Given the description of an element on the screen output the (x, y) to click on. 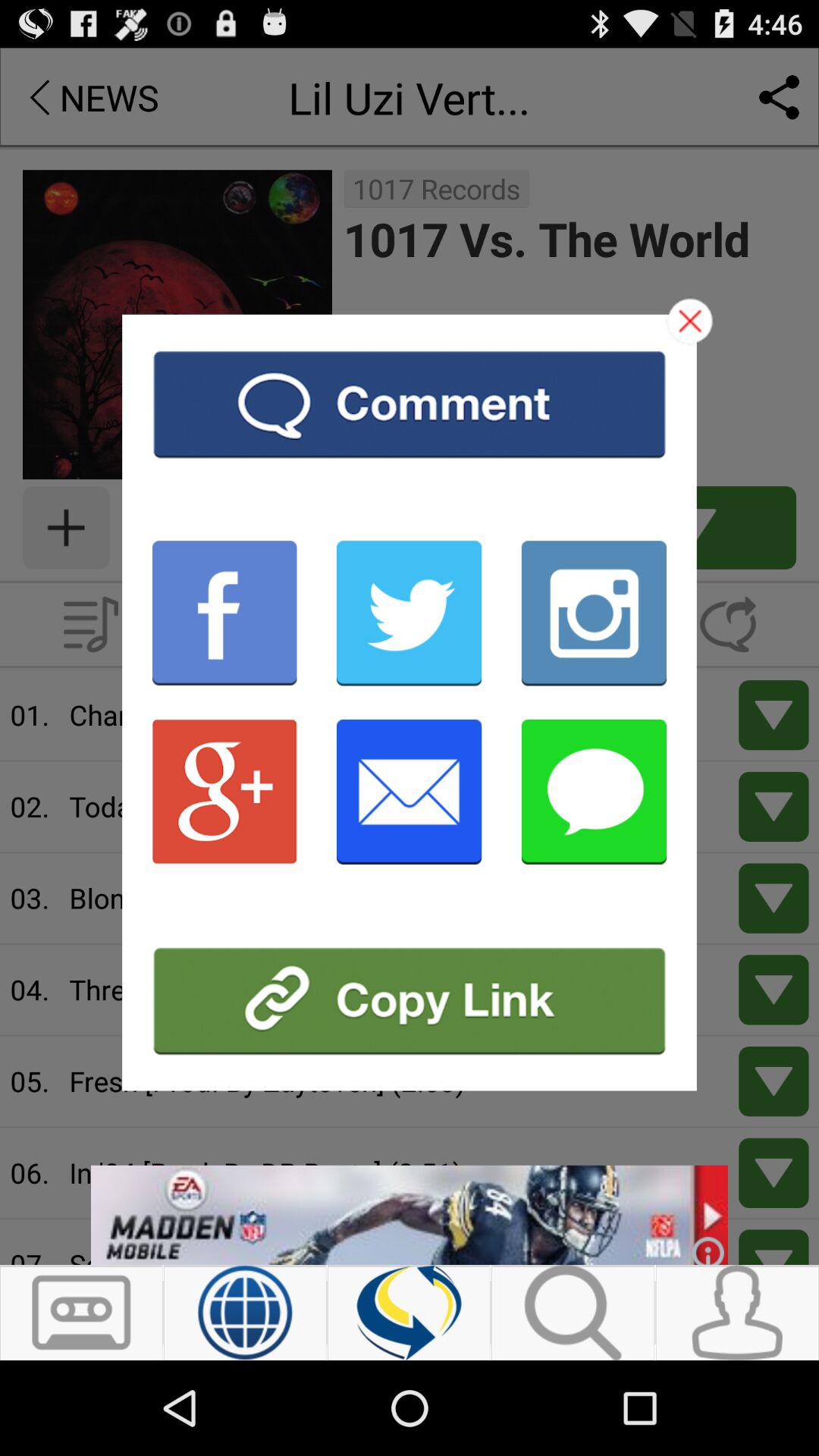
whatsapp (593, 791)
